Given the description of an element on the screen output the (x, y) to click on. 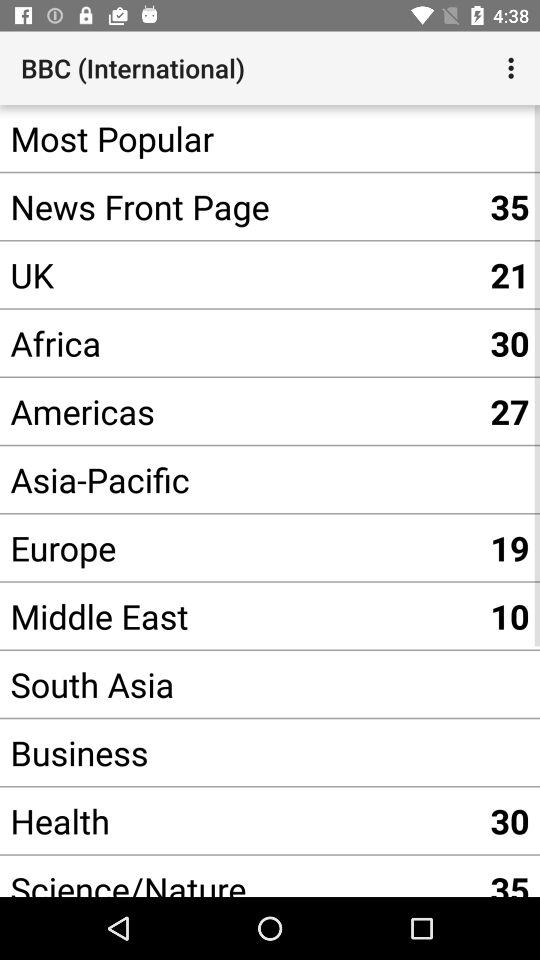
turn on the icon above 35 icon (513, 67)
